Given the description of an element on the screen output the (x, y) to click on. 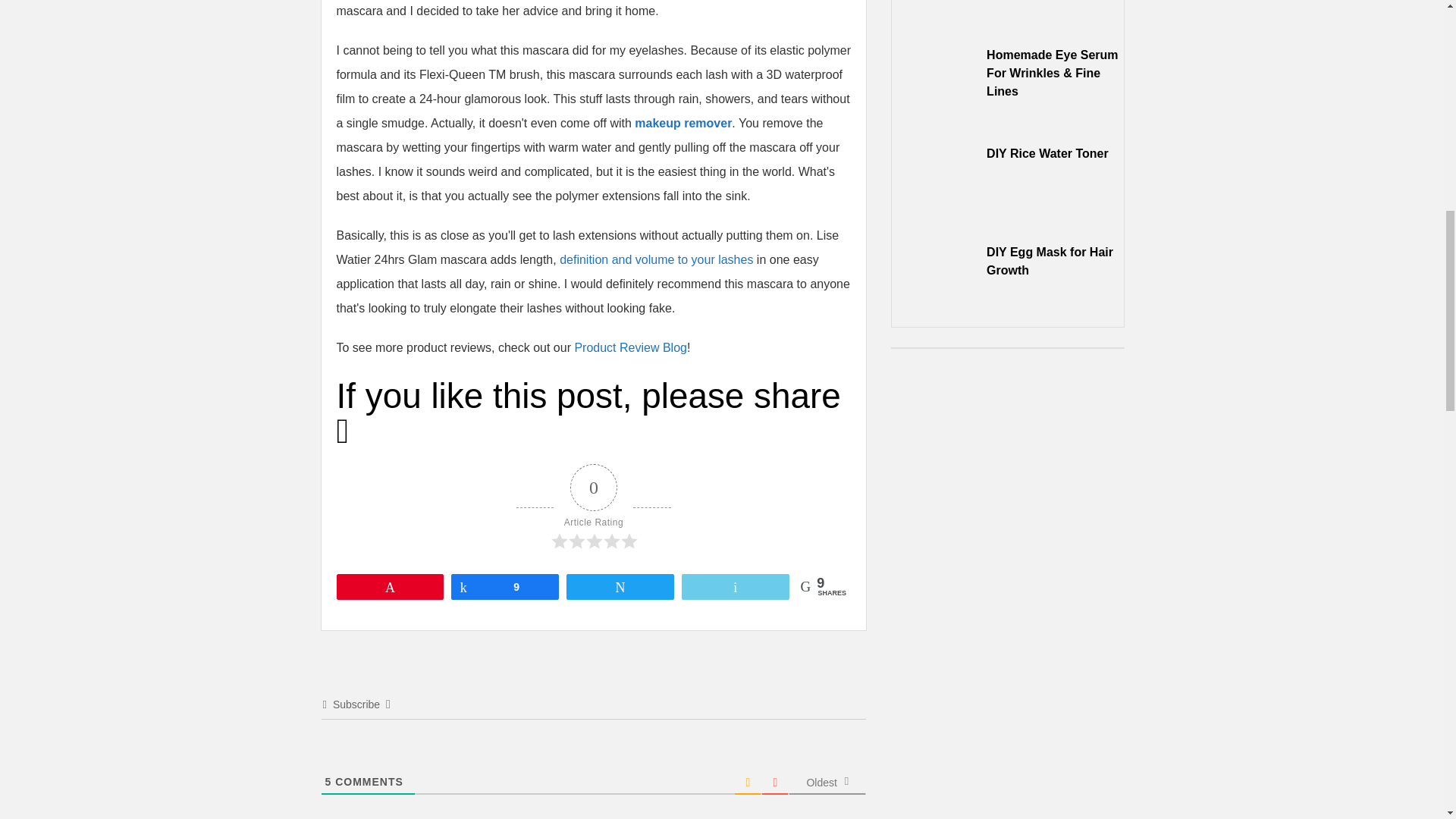
Product Review Blog (630, 347)
Maximize Your Lashes (655, 259)
makeup remover (683, 123)
makeup remover (683, 123)
9 (504, 585)
definition and volume to your lashes (655, 259)
